Given the description of an element on the screen output the (x, y) to click on. 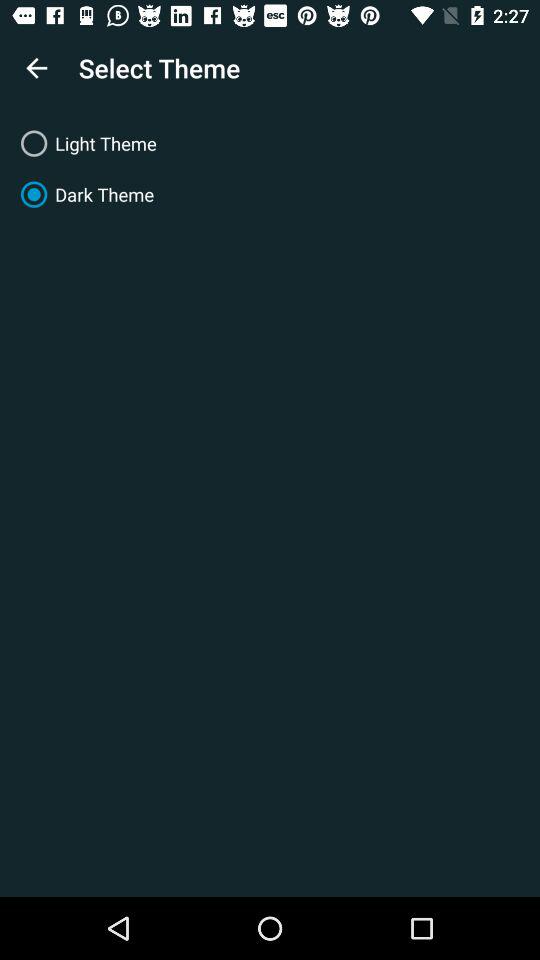
tap the icon below light theme item (269, 194)
